Given the description of an element on the screen output the (x, y) to click on. 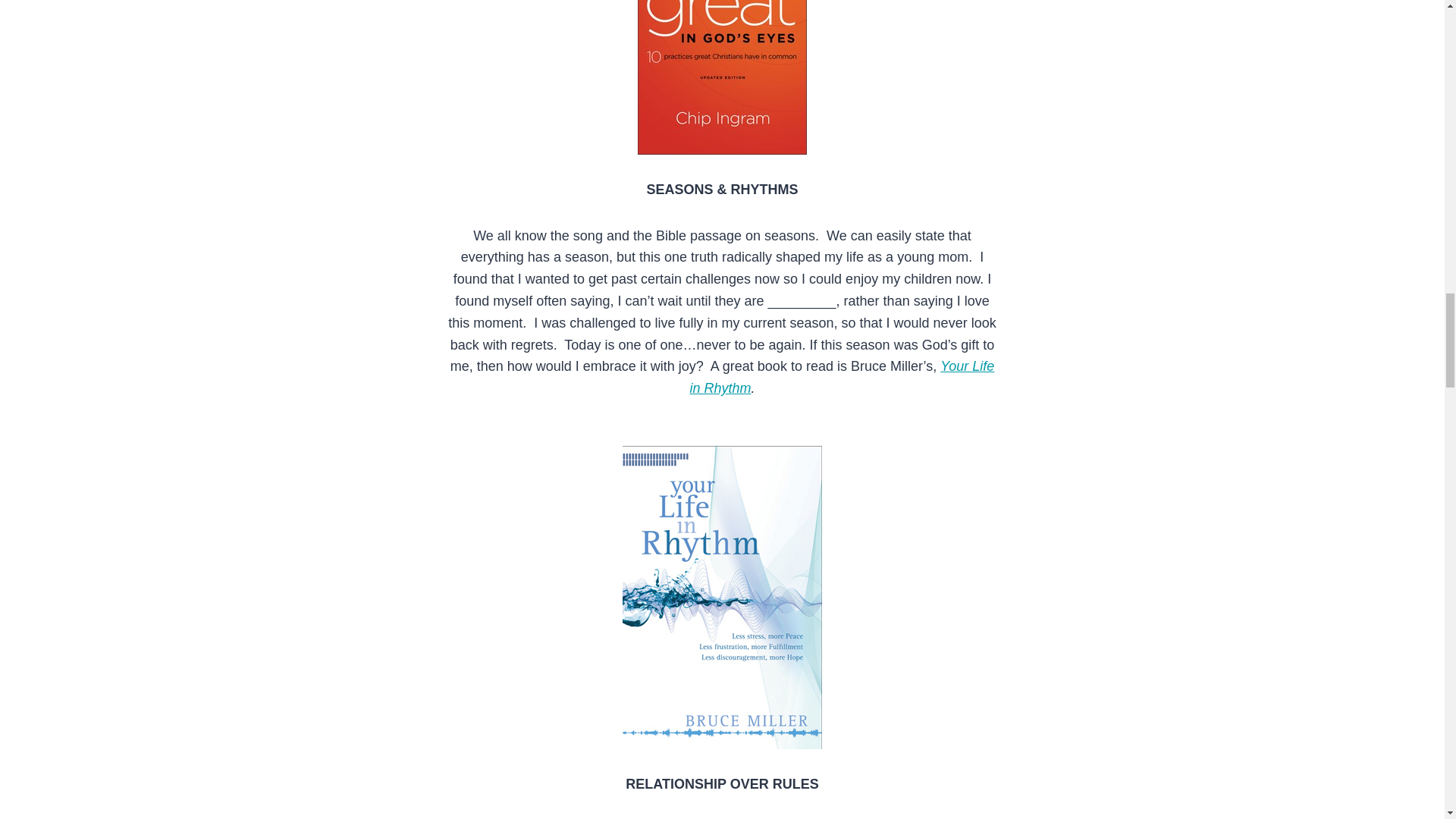
Your Life in Rhythm (841, 376)
